Given the description of an element on the screen output the (x, y) to click on. 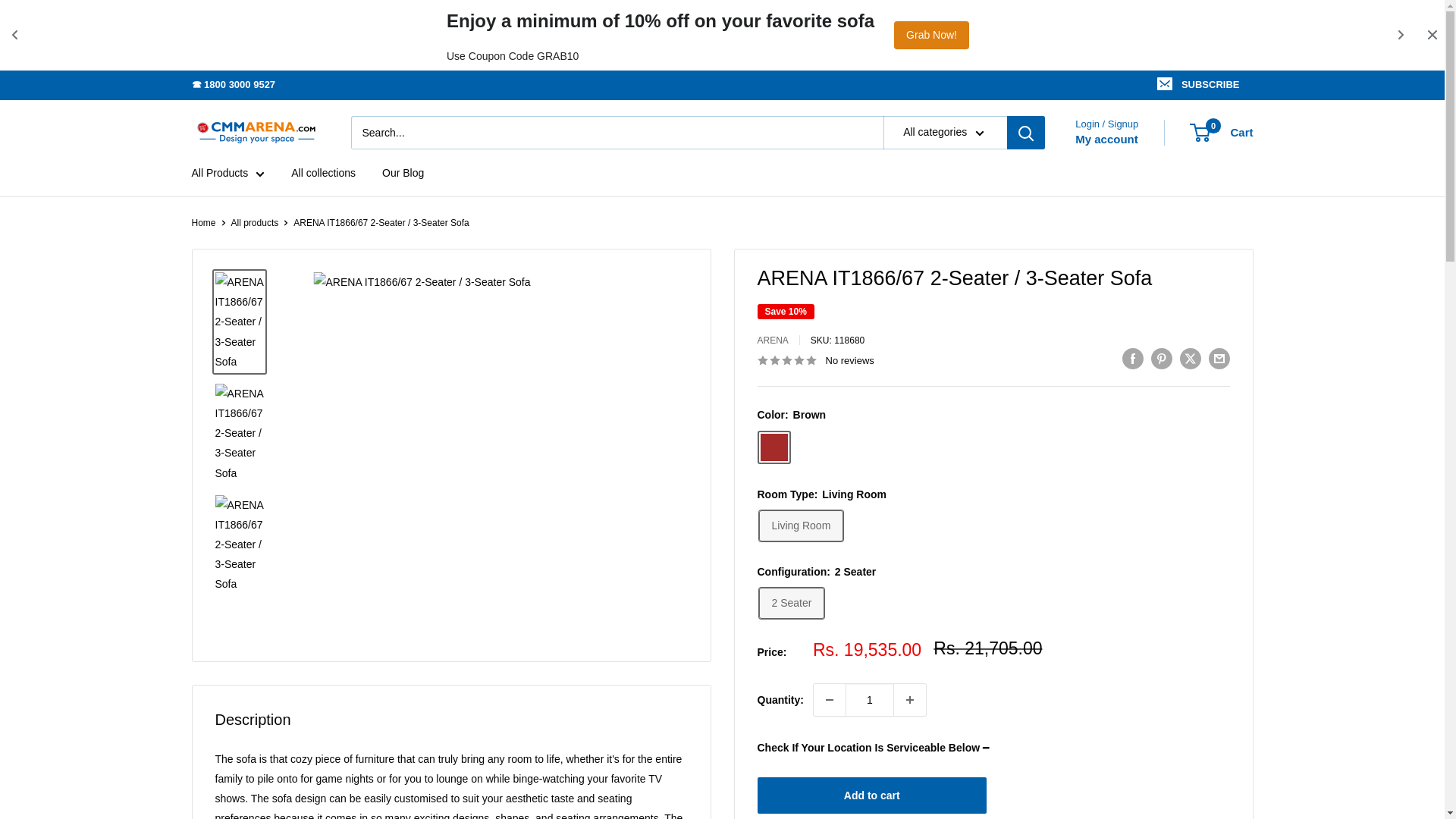
Increase quantity by 1 (909, 699)
Decrease quantity by 1 (829, 699)
All collections (323, 172)
All Products (227, 172)
2 Seater (791, 603)
Home (202, 222)
All products (255, 222)
SUBSCRIBE (1221, 132)
1 (1199, 84)
My account (869, 699)
Living Room (1106, 138)
Brown (800, 525)
Our Blog (773, 447)
Grab Now! (402, 172)
